Given the description of an element on the screen output the (x, y) to click on. 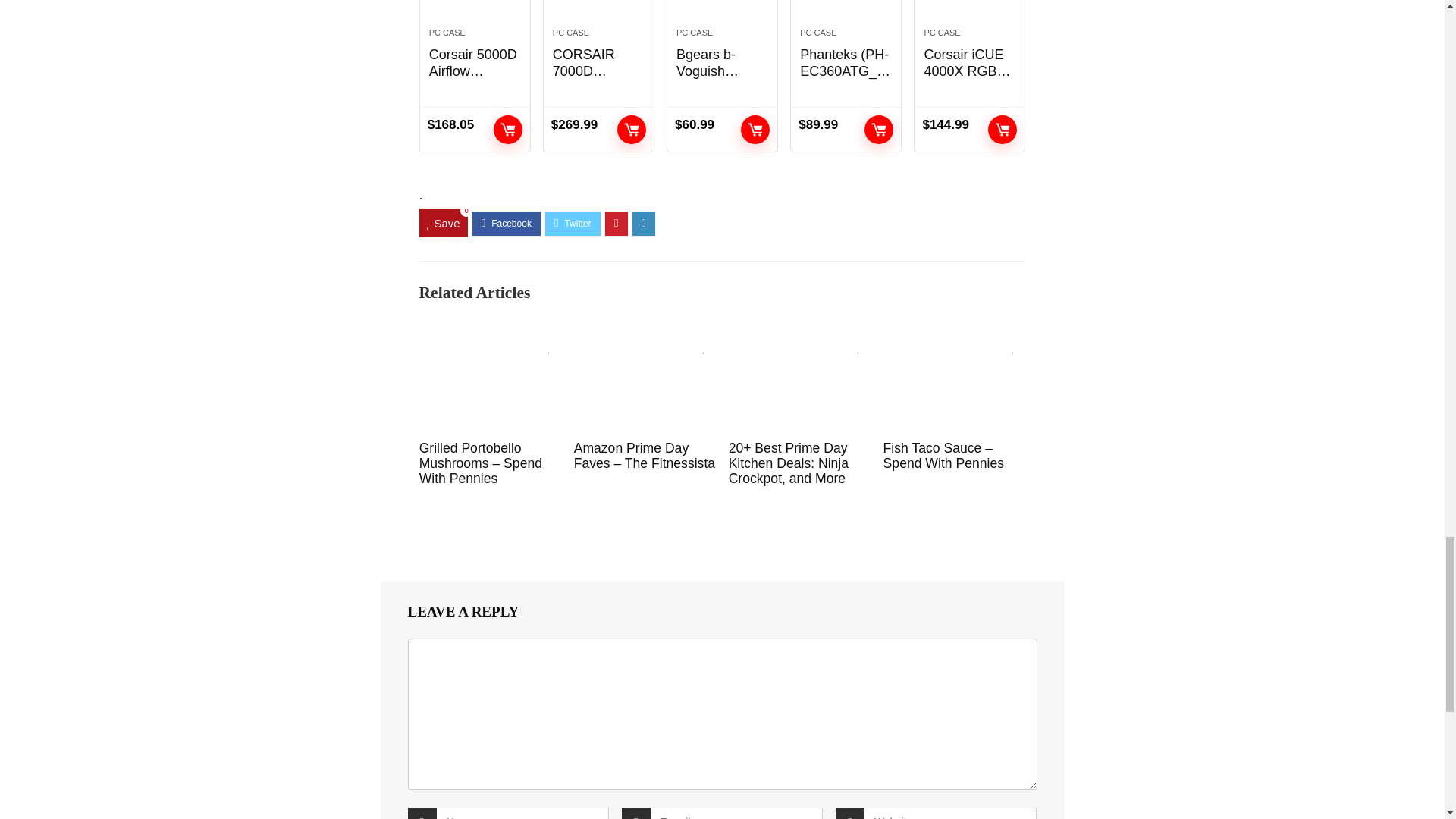
CORSAIR 7000D AIRFLOW Full-Tower ATX PC Case, Black (599, 7)
